Given the description of an element on the screen output the (x, y) to click on. 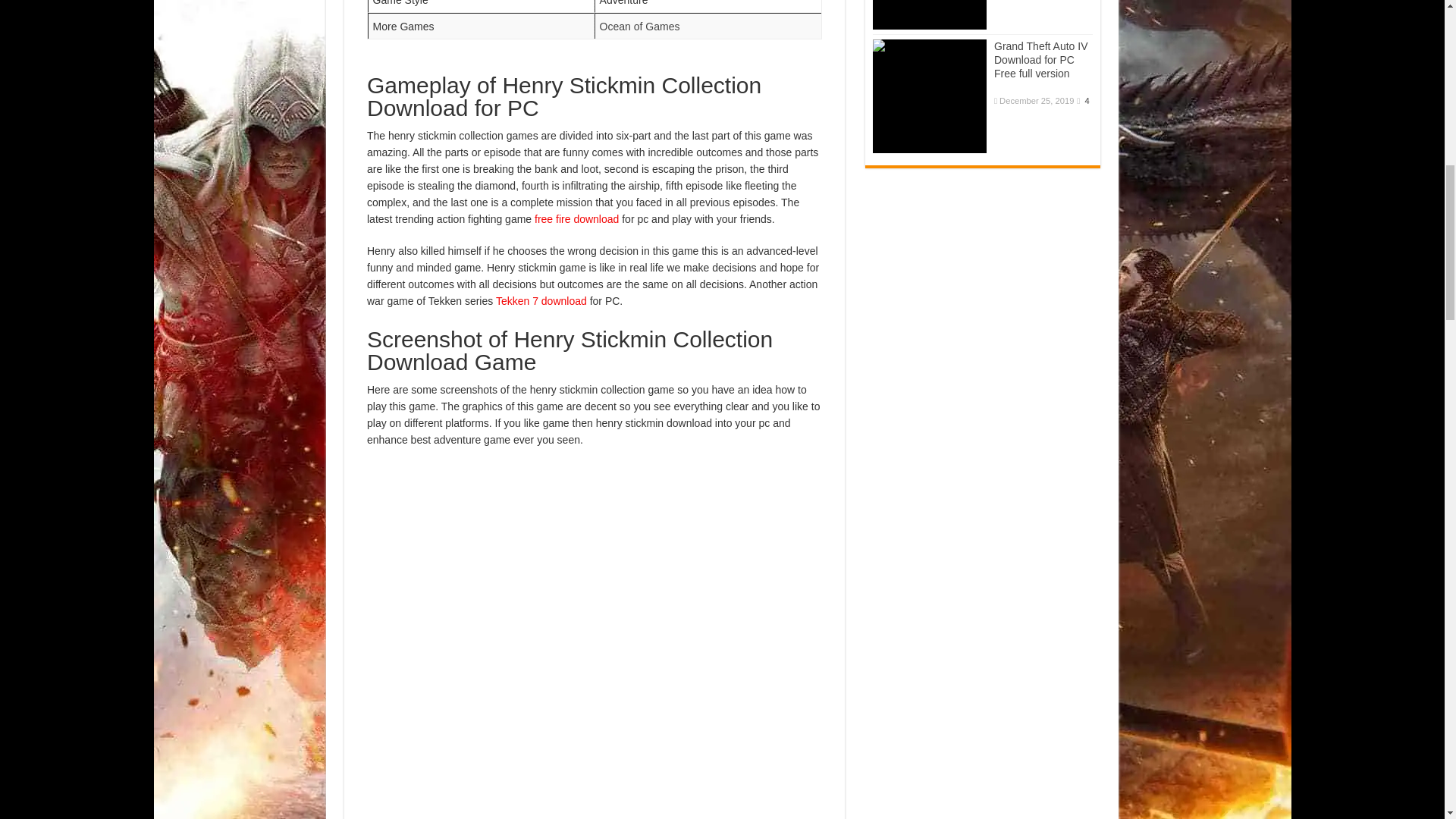
Grand Theft Auto IV Download for PC Free full version (929, 96)
free fire download (576, 218)
Ocean of Games (639, 26)
Tekken 7 download (541, 300)
